Given the description of an element on the screen output the (x, y) to click on. 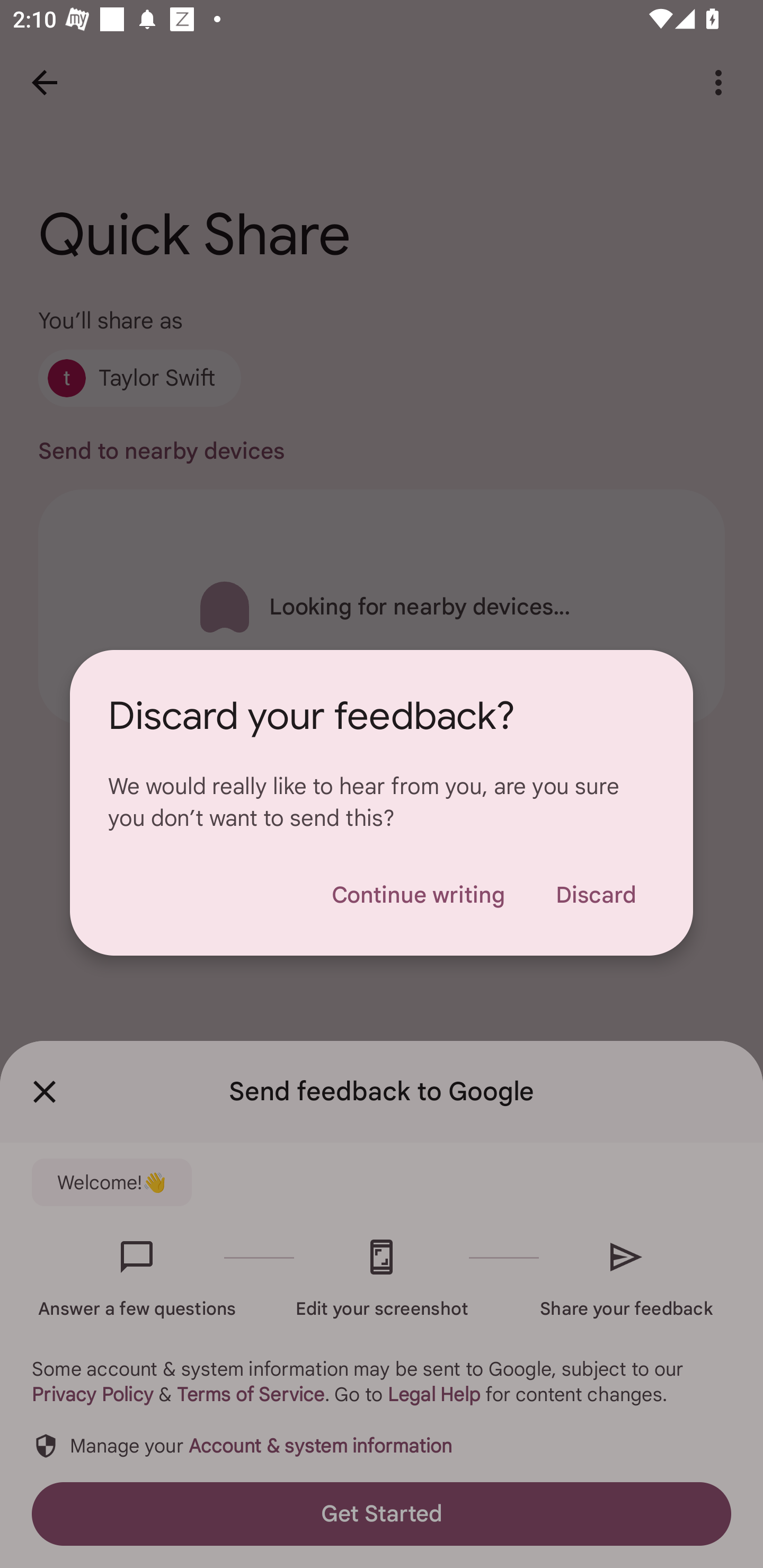
Continue writing (417, 894)
Discard (595, 894)
